Given the description of an element on the screen output the (x, y) to click on. 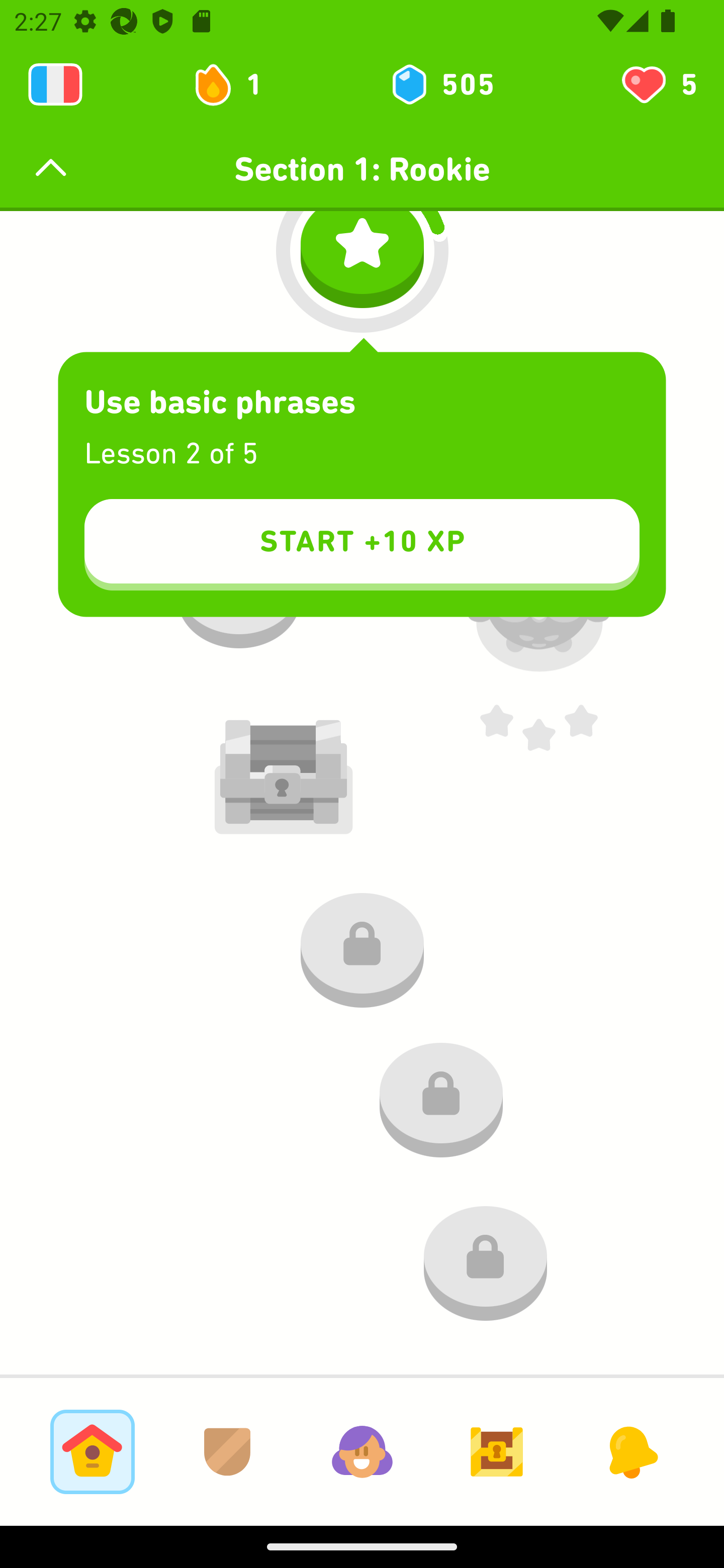
Learning 2131888976 (55, 84)
1 day streak 1 (236, 84)
505 (441, 84)
You have 5 hearts left 5 (657, 84)
Section 1: Rookie (362, 169)
Use basic phrases Lesson 2 of 5 START +10 XP (361, 484)
START +10 XP (361, 544)
Learn Tab (91, 1451)
Leagues Tab (227, 1451)
Profile Tab (361, 1451)
Goals Tab (496, 1451)
News Tab (631, 1451)
